Given the description of an element on the screen output the (x, y) to click on. 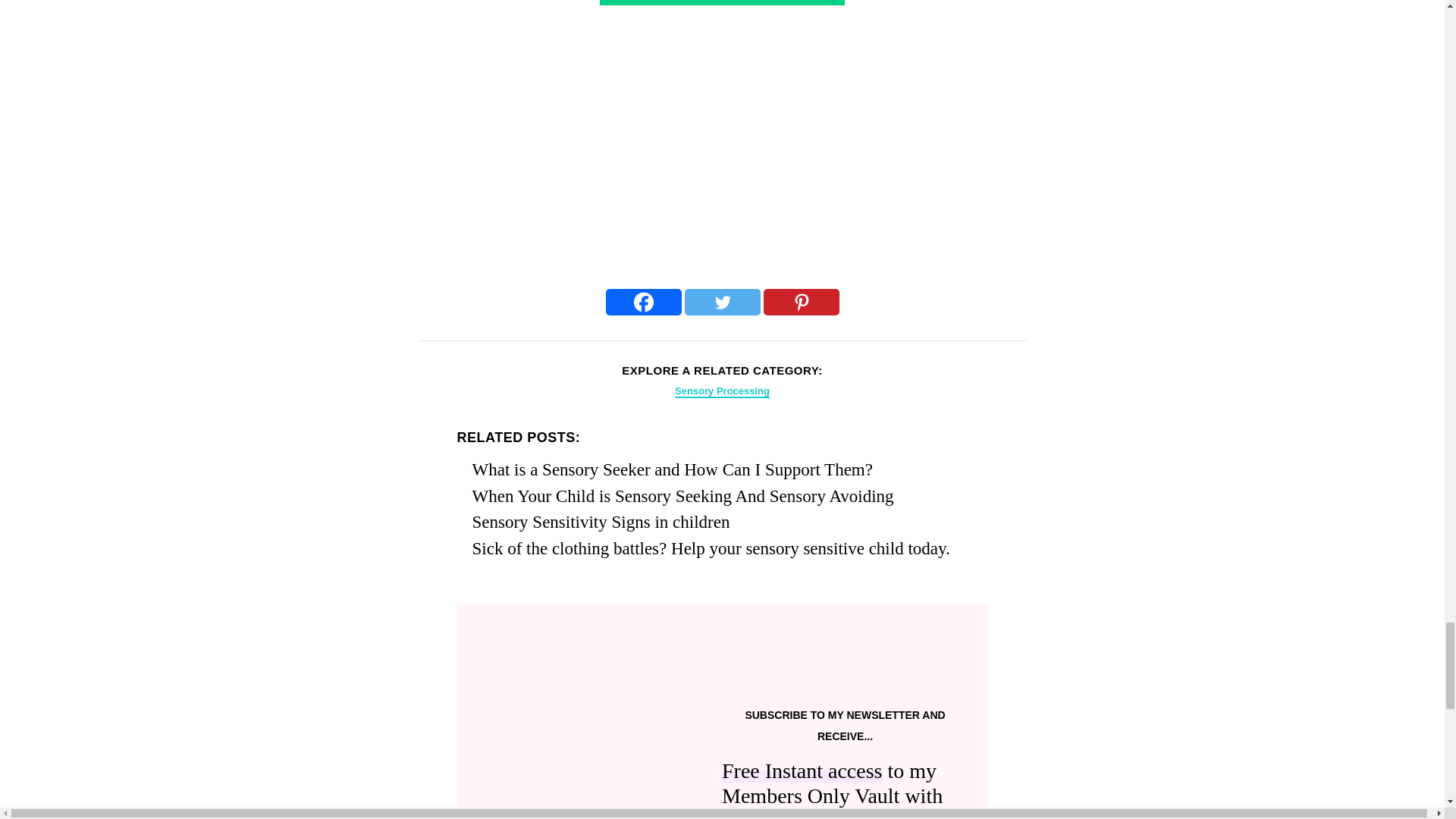
What is a Sensory Seeker and How Can I Support Them? (671, 469)
Twitter (722, 302)
When Your Child is Sensory Seeking And Sensory Avoiding (682, 496)
Sensory Sensitivity Signs in children (600, 521)
Facebook (643, 302)
Pinterest (800, 302)
Click Here To Work With Me (721, 2)
Sensory Processing (722, 391)
